Given the description of an element on the screen output the (x, y) to click on. 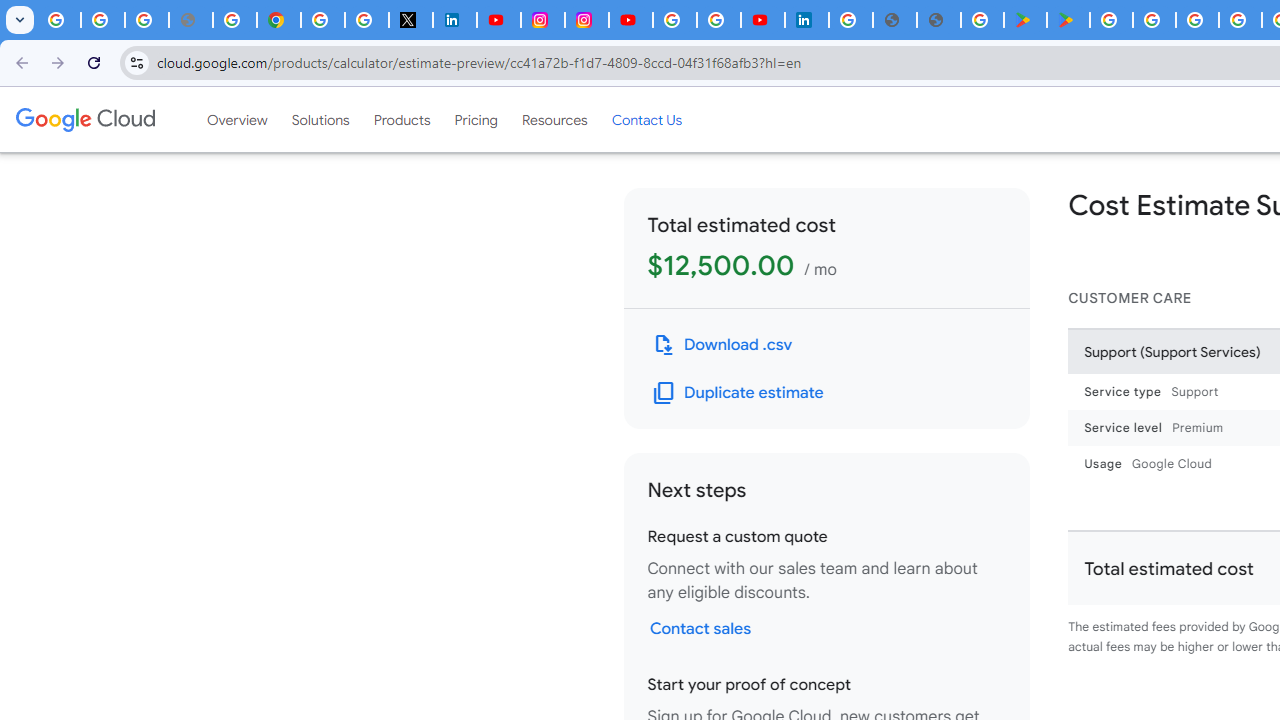
User Details (938, 20)
Google Workspace - Specific Terms (1240, 20)
LinkedIn Privacy Policy (454, 20)
Products (401, 119)
support.google.com - Network error (190, 20)
Solutions (320, 119)
Sign in - Google Accounts (674, 20)
